Given the description of an element on the screen output the (x, y) to click on. 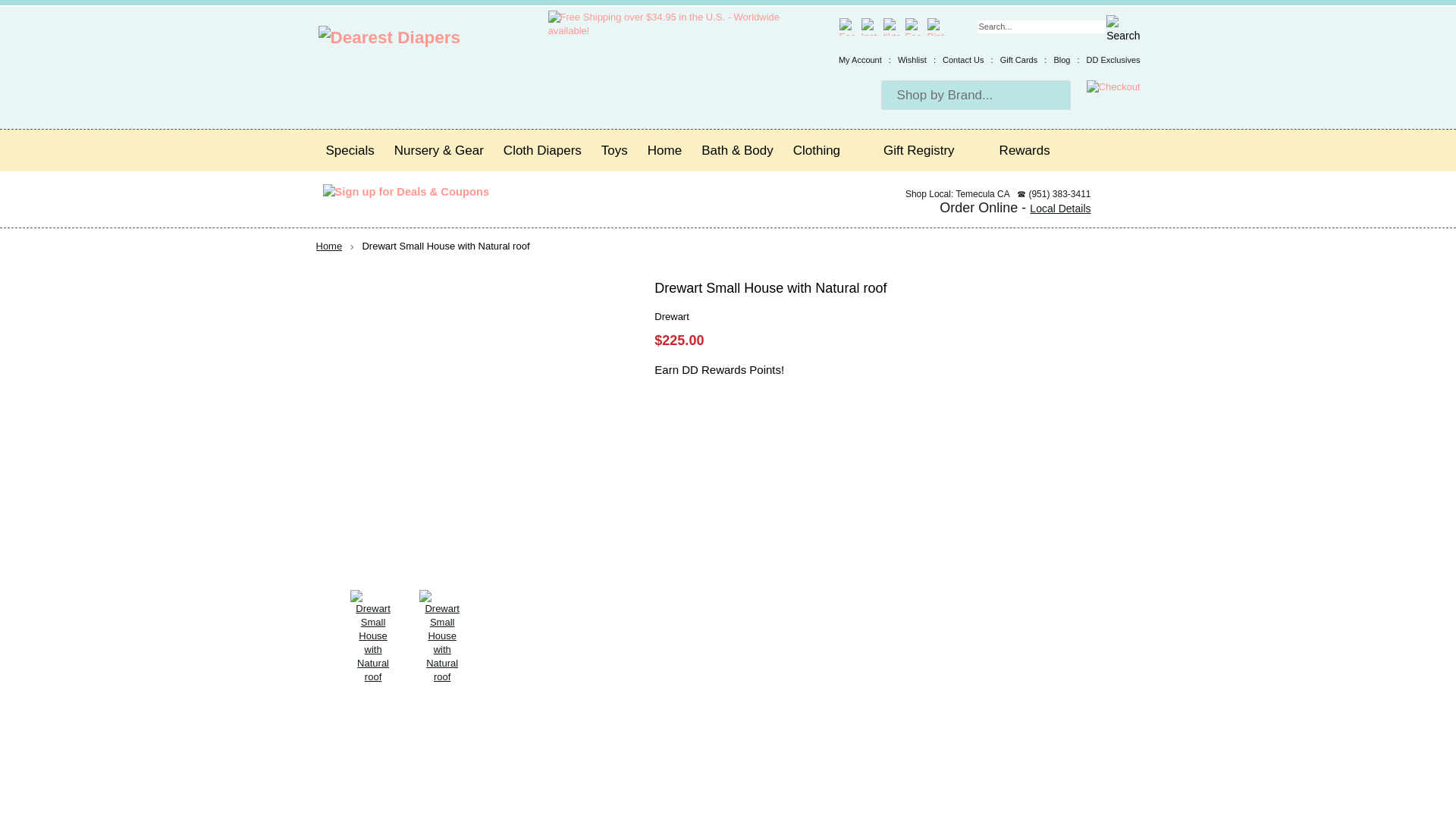
Search... (1040, 26)
Wishlist (912, 59)
Gift Cards (1019, 59)
Contact Us (963, 59)
My Account (860, 59)
Blog (1061, 59)
Search... (1040, 26)
Back to the frontpage (328, 246)
Specials (349, 150)
DD Exclusives (1113, 59)
